Given the description of an element on the screen output the (x, y) to click on. 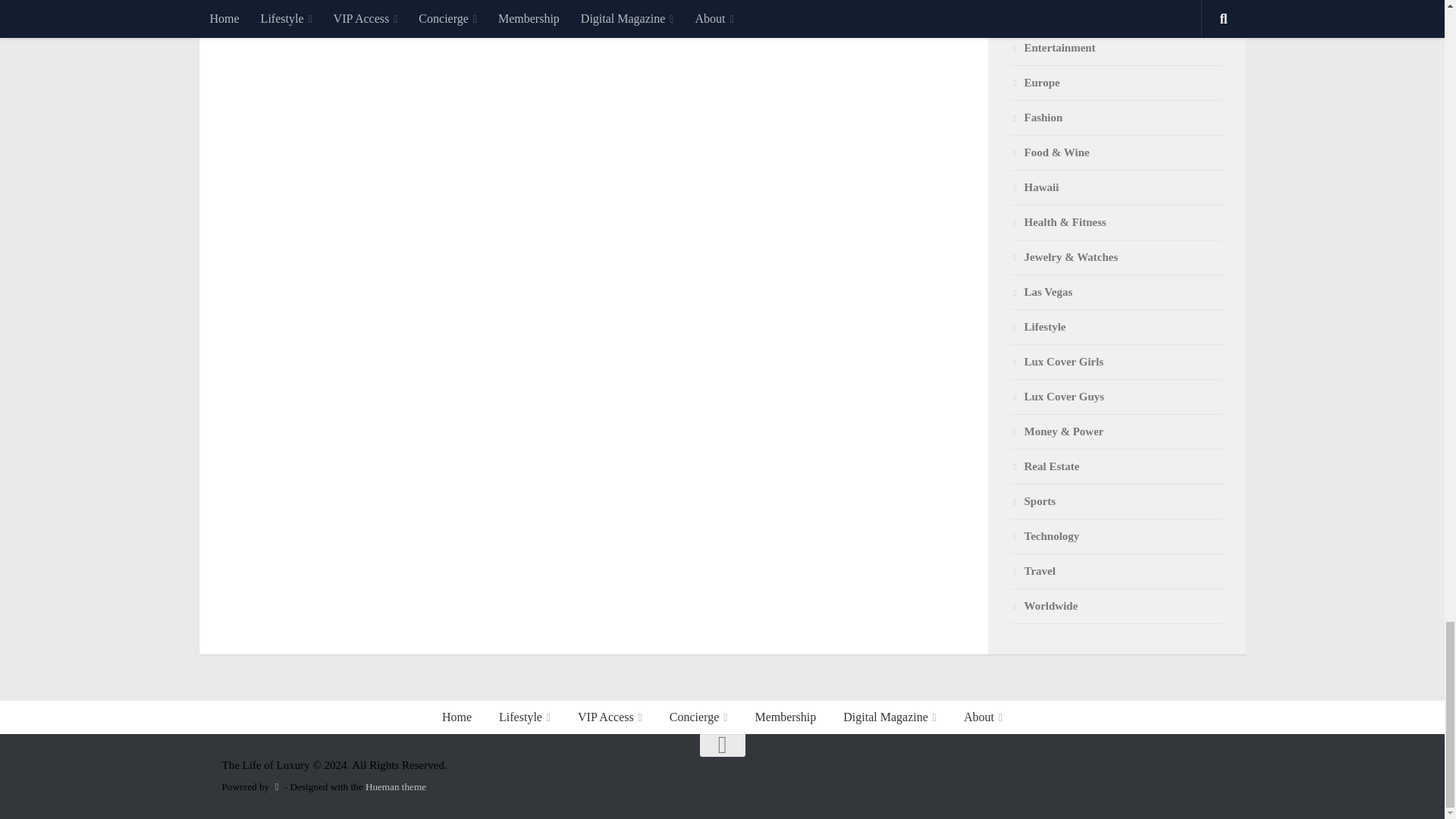
Hueman theme (395, 786)
Powered by WordPress (275, 786)
